Given the description of an element on the screen output the (x, y) to click on. 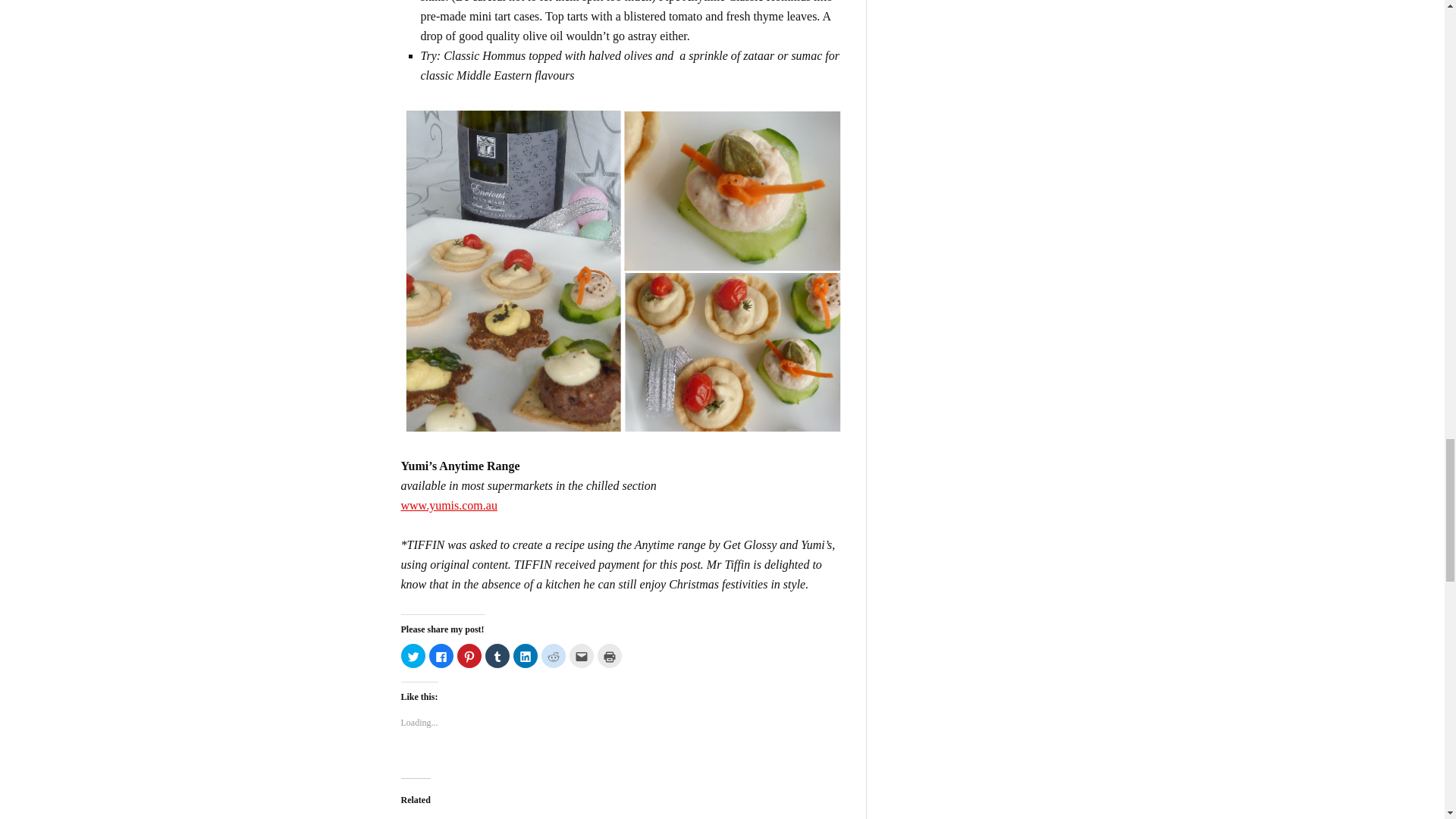
Click to share on Facebook (440, 655)
www.yumis.com.au (448, 504)
Click to share on Twitter (412, 655)
Click to share on Reddit (553, 655)
Click to share on Tumblr (496, 655)
Click to share on Pinterest (468, 655)
Click to print (608, 655)
Click to email this to a friend (580, 655)
Click to share on LinkedIn (524, 655)
